Given the description of an element on the screen output the (x, y) to click on. 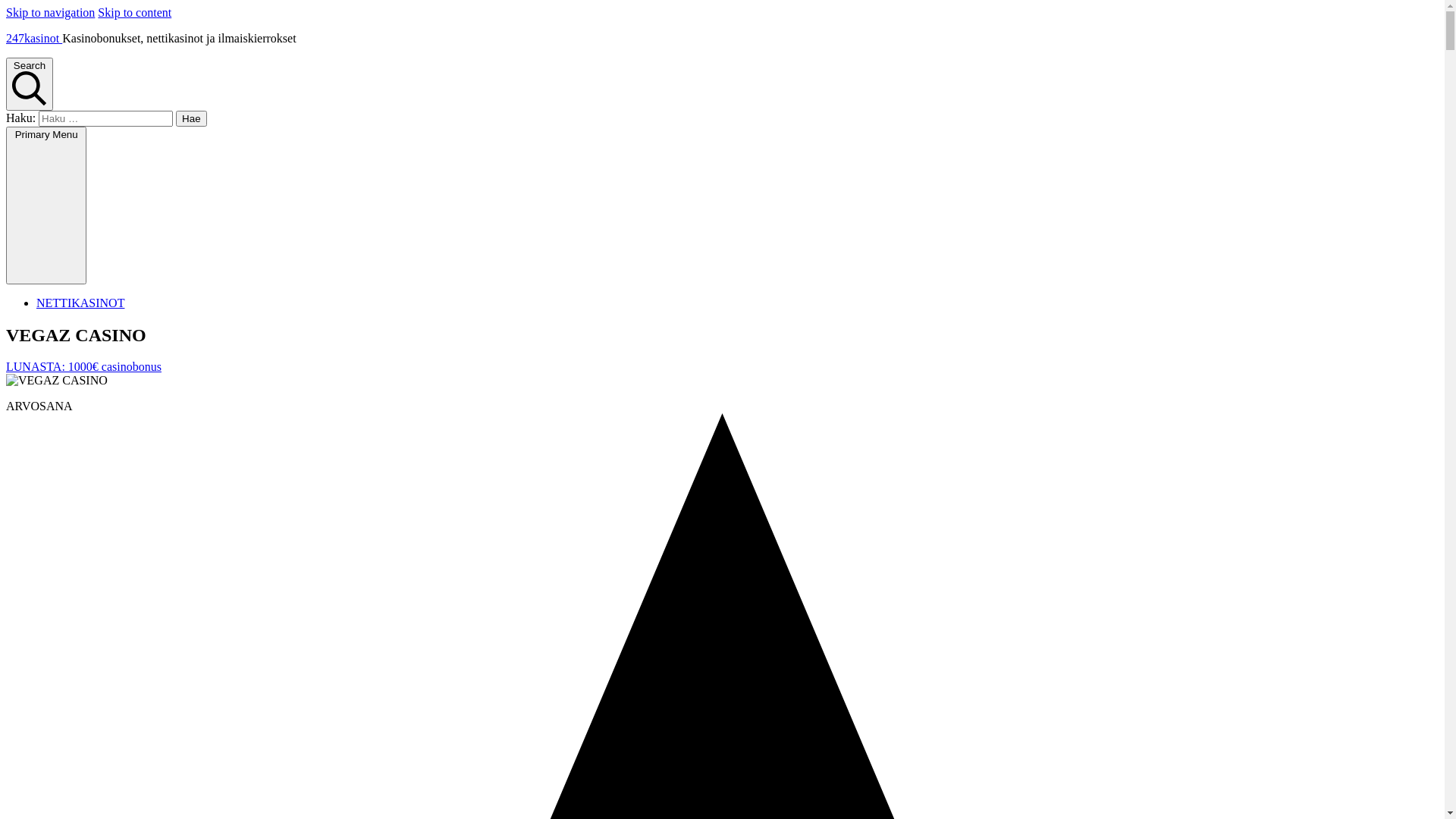
Hae Element type: text (190, 118)
247kasinot Element type: text (34, 37)
Search Element type: text (29, 83)
Skip to navigation Element type: text (50, 12)
Primary Menu Element type: text (46, 205)
NETTIKASINOT Element type: text (80, 302)
Skip to content Element type: text (134, 12)
